Given the description of an element on the screen output the (x, y) to click on. 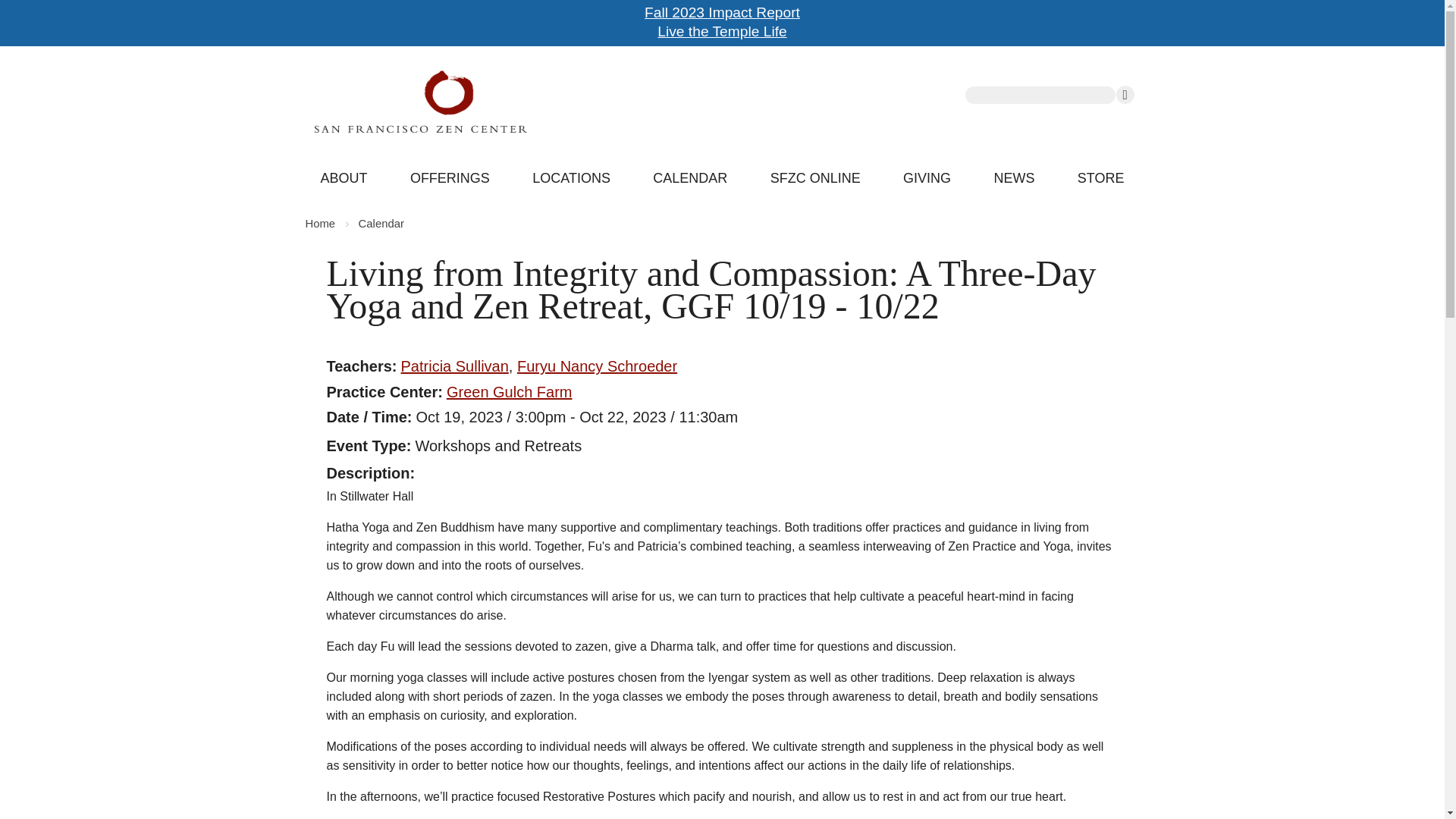
Search (1125, 94)
Home (518, 101)
Patricia Sullivan (454, 365)
Green Gulch Farm (509, 392)
LOCATIONS (571, 178)
Fall 2023 Impact Report (722, 12)
Enter the terms you wish to search for. (1039, 94)
OFFERINGS (449, 178)
Home (319, 223)
STORE (1100, 178)
